Given the description of an element on the screen output the (x, y) to click on. 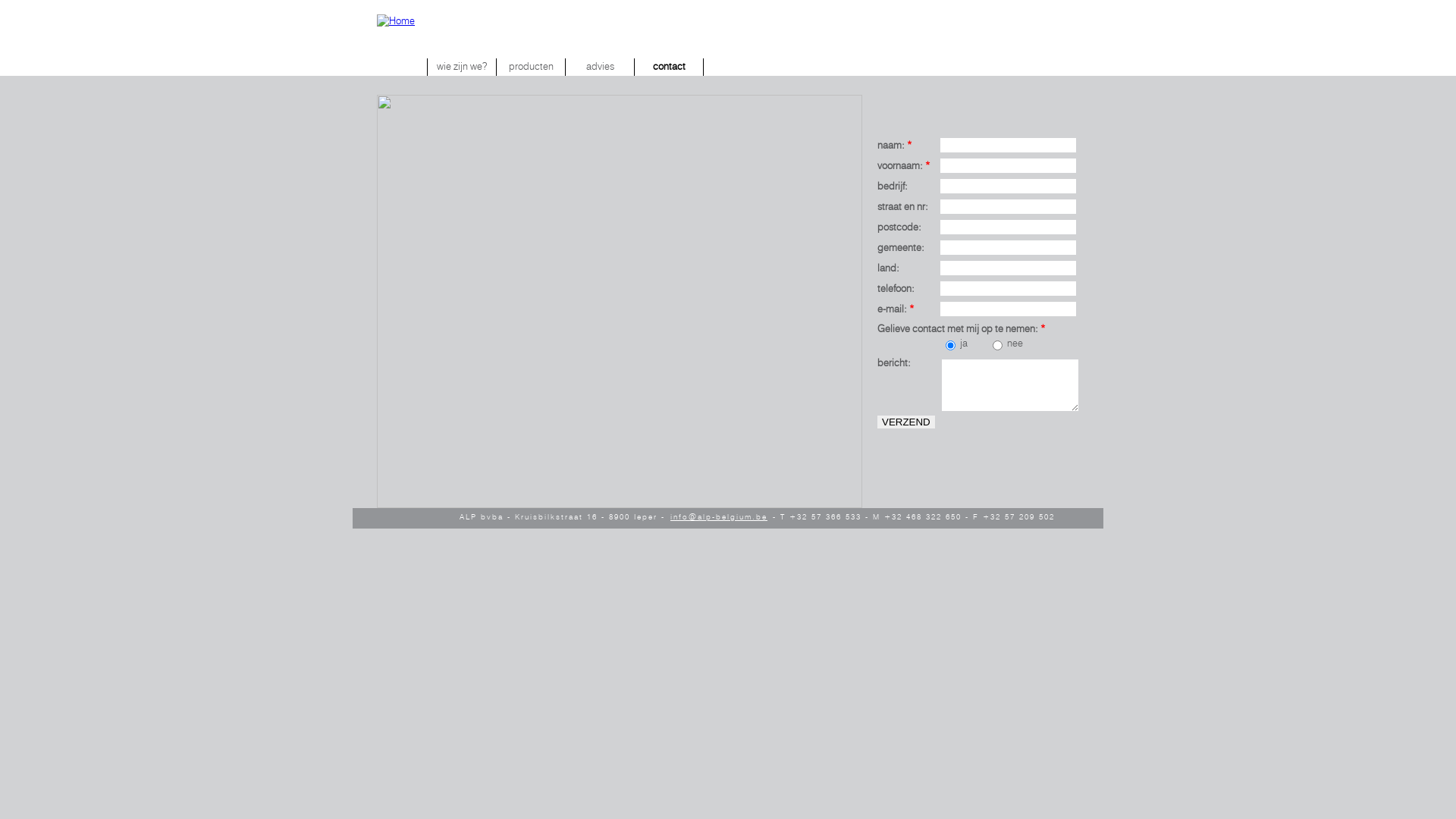
contact Element type: text (669, 67)
wie zijn we? Element type: text (461, 67)
producten Element type: text (531, 67)
advies Element type: text (600, 67)
Home Element type: hover (395, 54)
info@alp-belgium.be Element type: text (718, 516)
VERZEND Element type: text (906, 421)
